Given the description of an element on the screen output the (x, y) to click on. 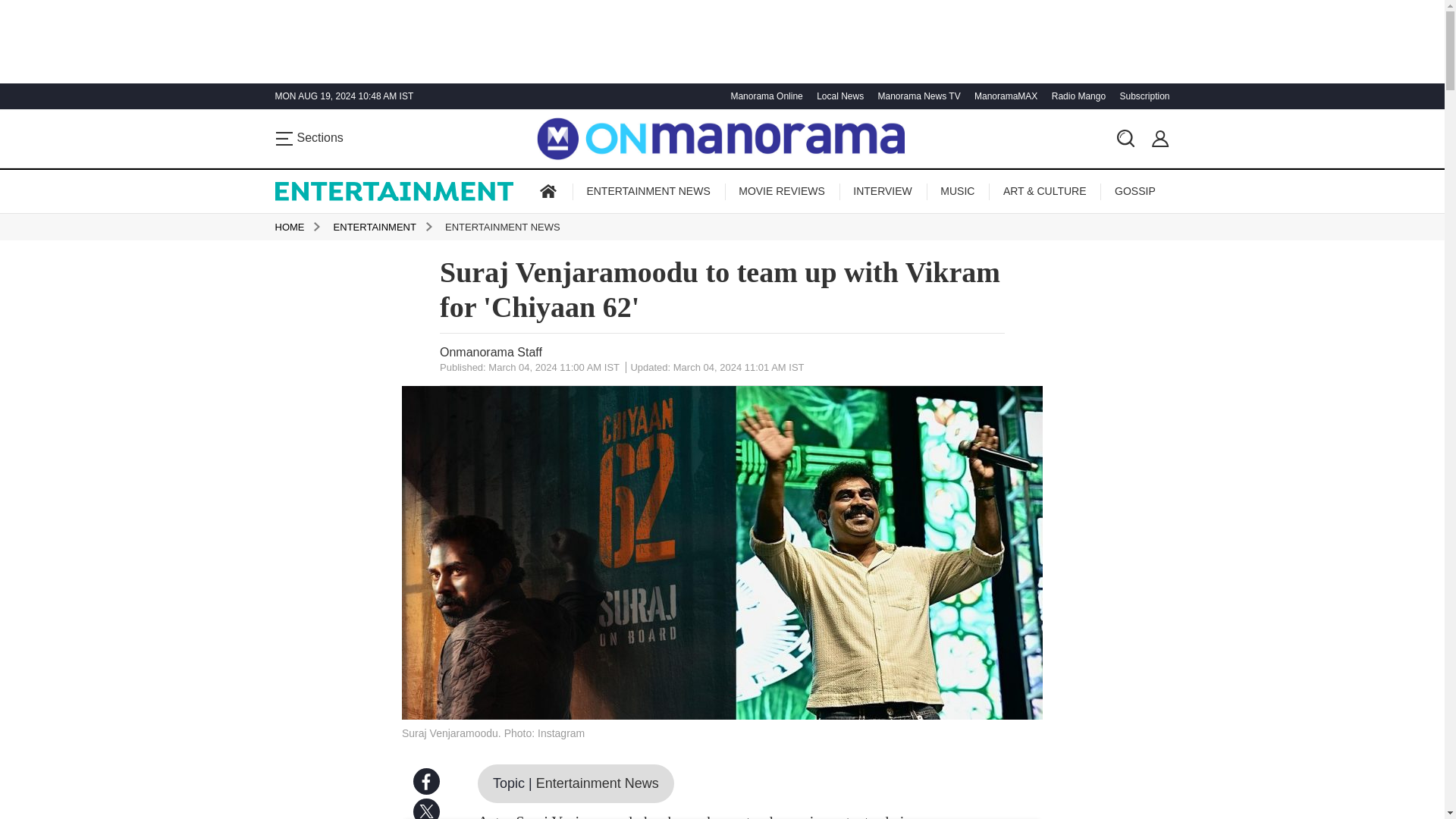
Radio Mango (1076, 95)
ENTERTAINMENT NEWS (647, 191)
Subscription (1142, 95)
MUSIC (957, 191)
MOVIE REVIEWS (781, 191)
Manorama Online (764, 95)
Manorama News TV (916, 95)
INTERVIEW (882, 191)
Local News (837, 95)
ManoramaMAX (1003, 95)
